Given the description of an element on the screen output the (x, y) to click on. 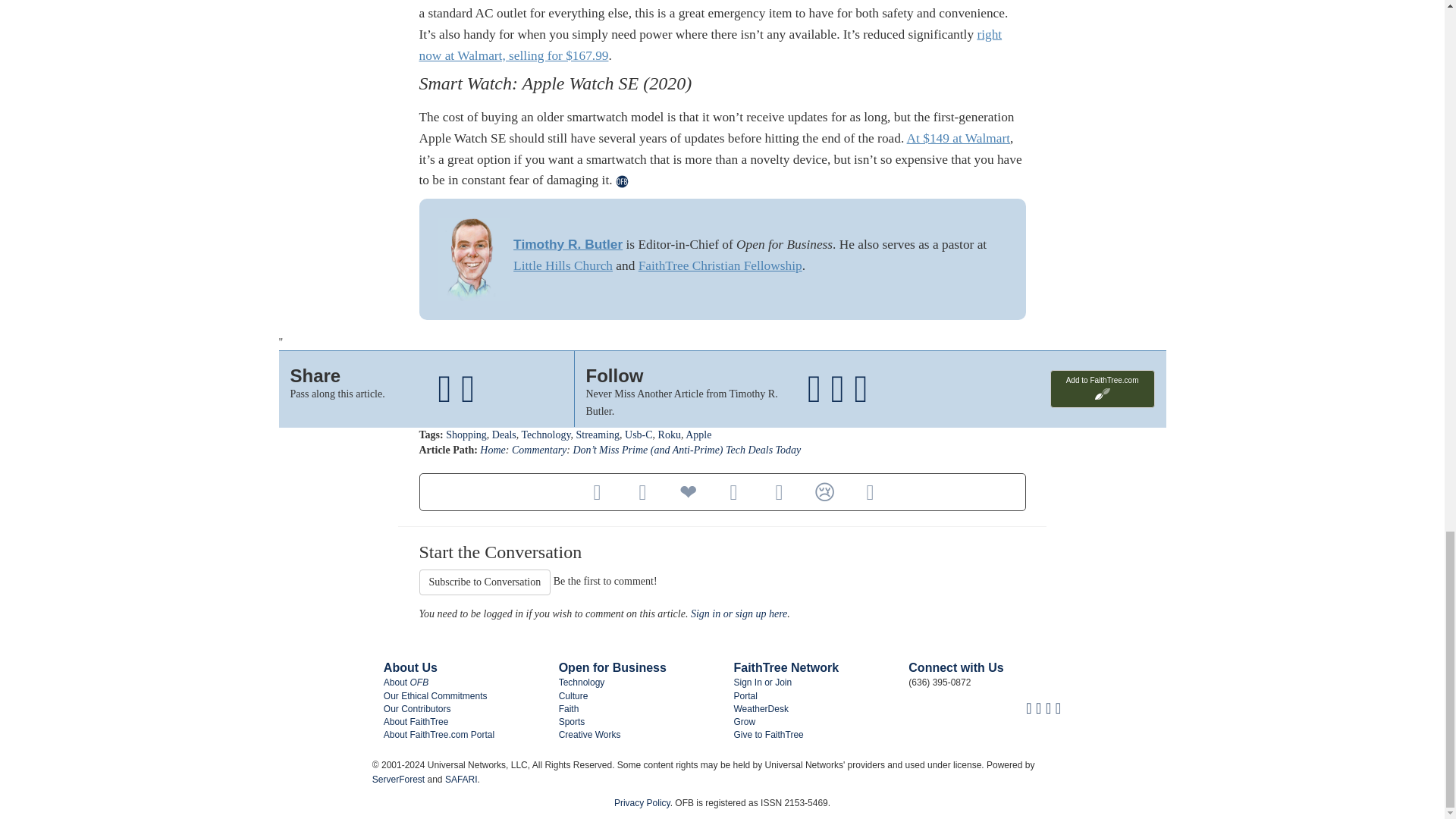
Add to FaithTree.com (1101, 388)
Little Hills Church (562, 265)
Apple (698, 434)
OFB on Twitter (1038, 708)
Streaming (597, 434)
FaithTree Christian Fellowship (720, 265)
OFB on Facebook (1028, 708)
Technology (545, 434)
Timothy R. Butler (568, 243)
Usb-C (638, 434)
OFB RSS Feeds (1058, 708)
Home (492, 449)
Commentary (539, 449)
OFB on Mastodon (1048, 708)
Shopping (465, 434)
